Given the description of an element on the screen output the (x, y) to click on. 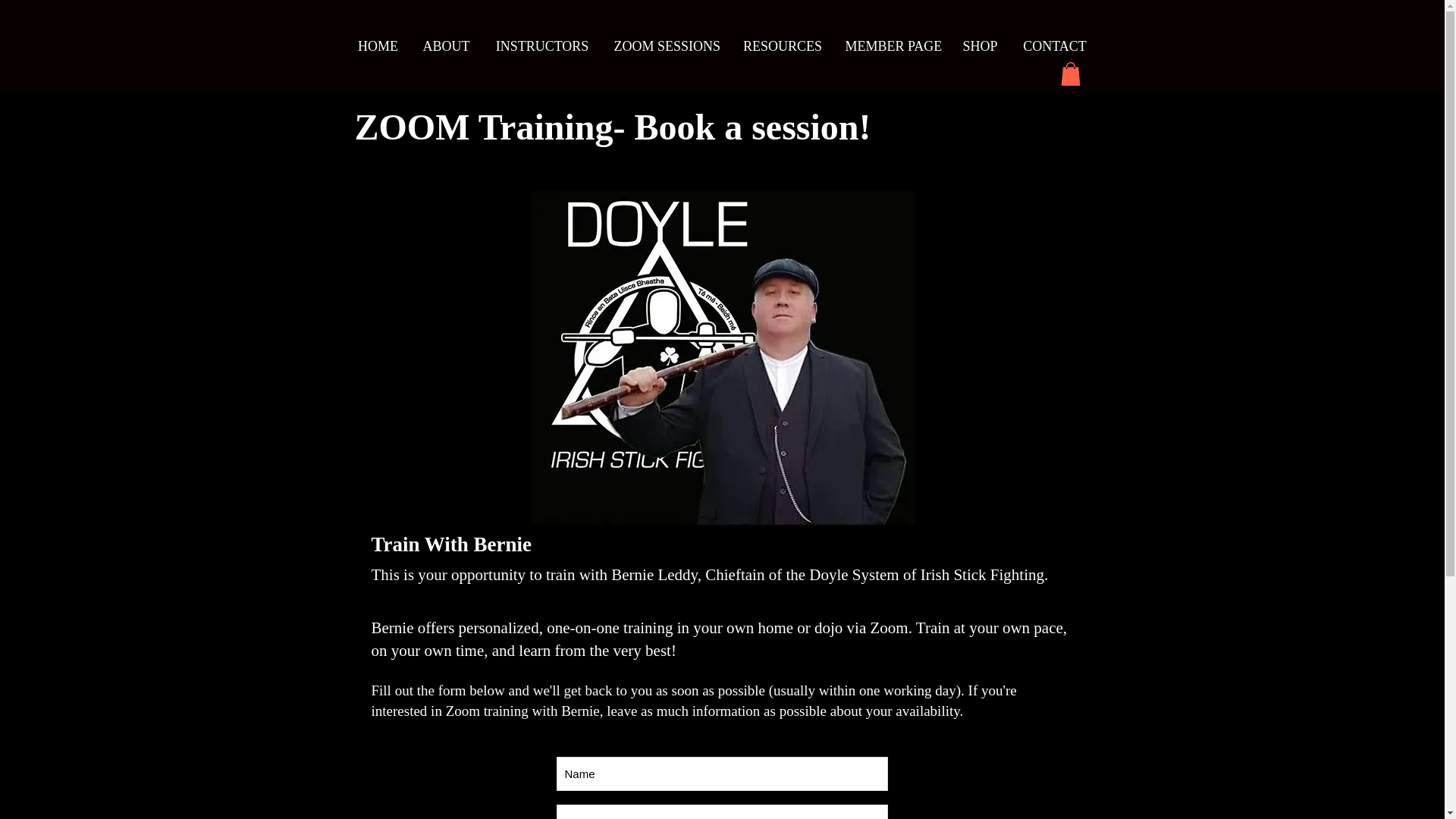
ZOOM SESSIONS (666, 46)
CONTACT (1055, 46)
HOME (378, 46)
SHOP (980, 46)
MEMBER PAGE (892, 46)
